Given the description of an element on the screen output the (x, y) to click on. 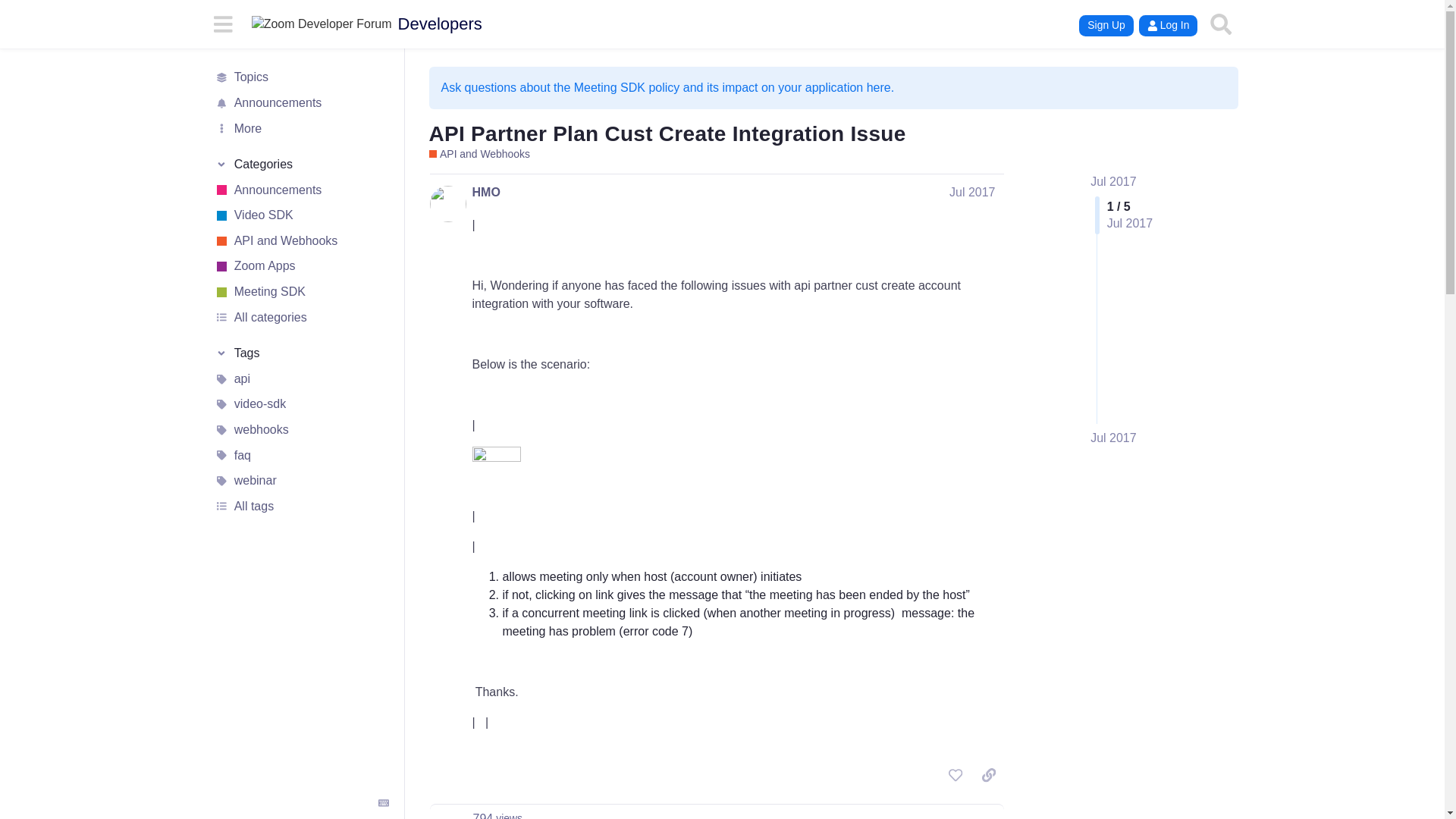
API and Webhooks (301, 240)
Jul 2017 (972, 192)
Jul 2017 (1113, 437)
api (301, 379)
Keyboard Shortcuts (384, 801)
Jump to the first post (1113, 181)
Announcements (301, 103)
HMO (485, 192)
Tags (301, 353)
